Given the description of an element on the screen output the (x, y) to click on. 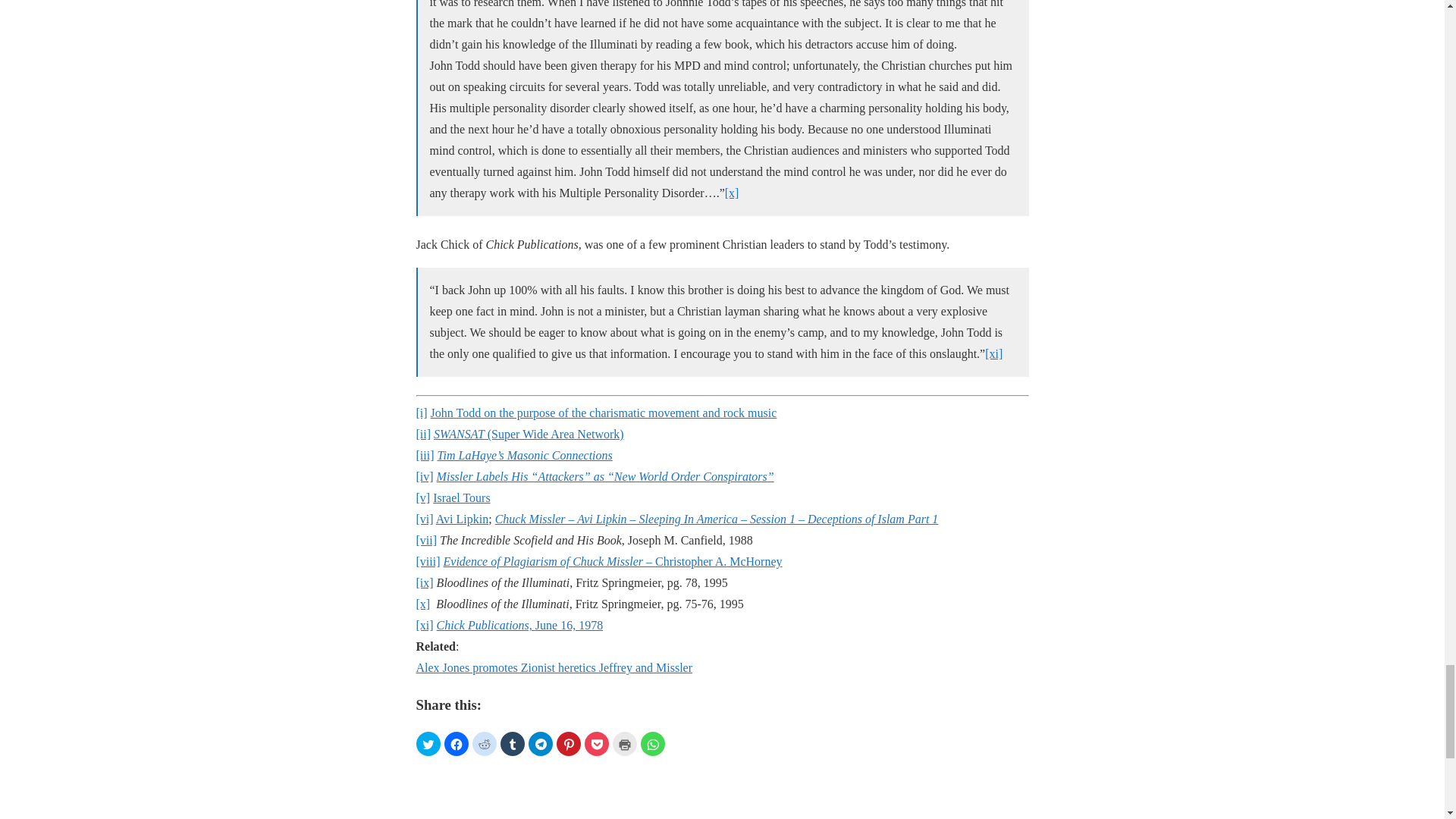
Israel Tours (460, 497)
Avi Lipkin (461, 518)
